Given the description of an element on the screen output the (x, y) to click on. 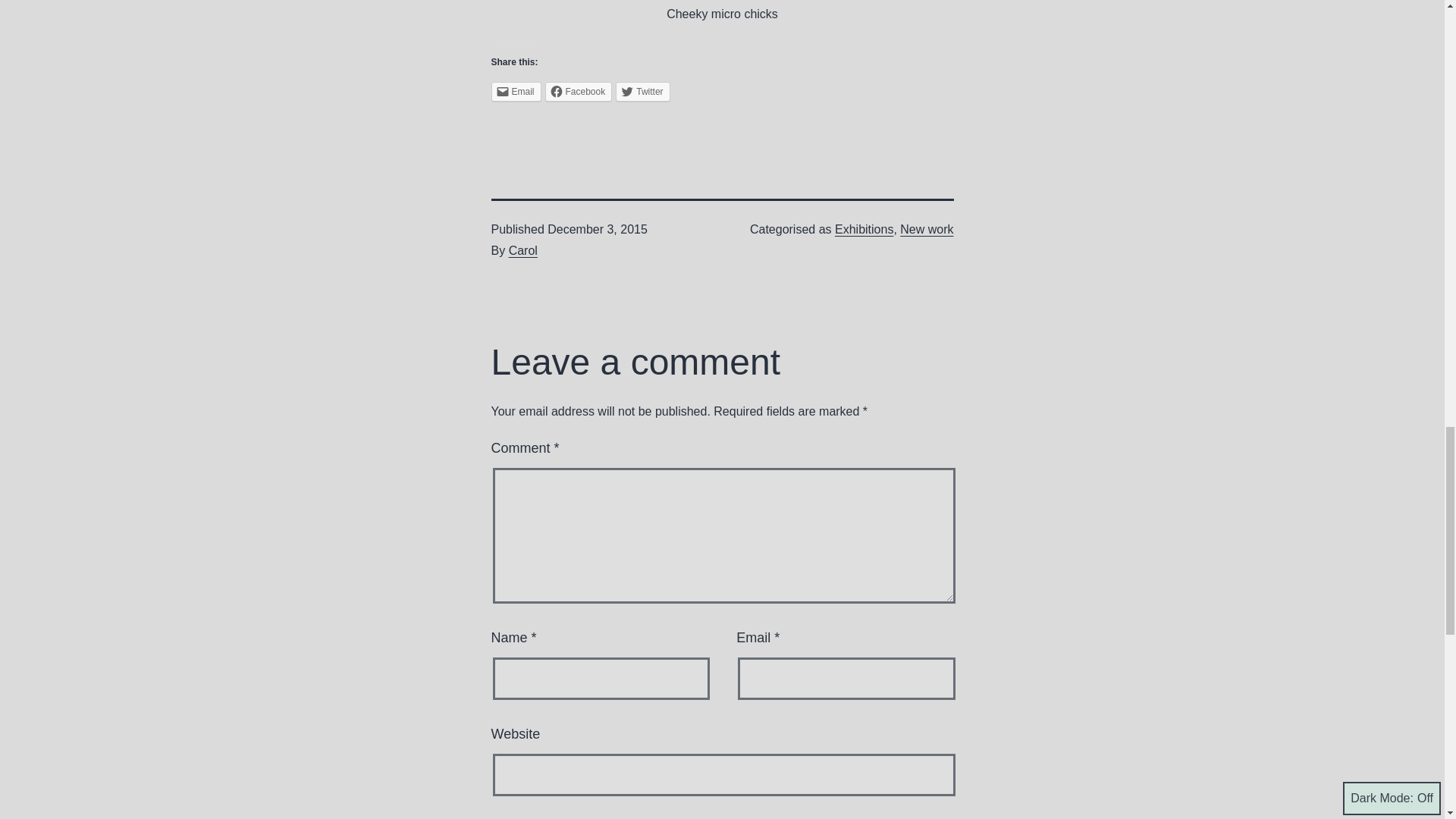
Email (516, 91)
Click to share on Facebook (578, 91)
New work (926, 228)
Exhibitions (863, 228)
Facebook (578, 91)
Click to email this to a friend (516, 91)
Carol (522, 250)
Twitter (642, 91)
Click to share on Twitter (642, 91)
